Given the description of an element on the screen output the (x, y) to click on. 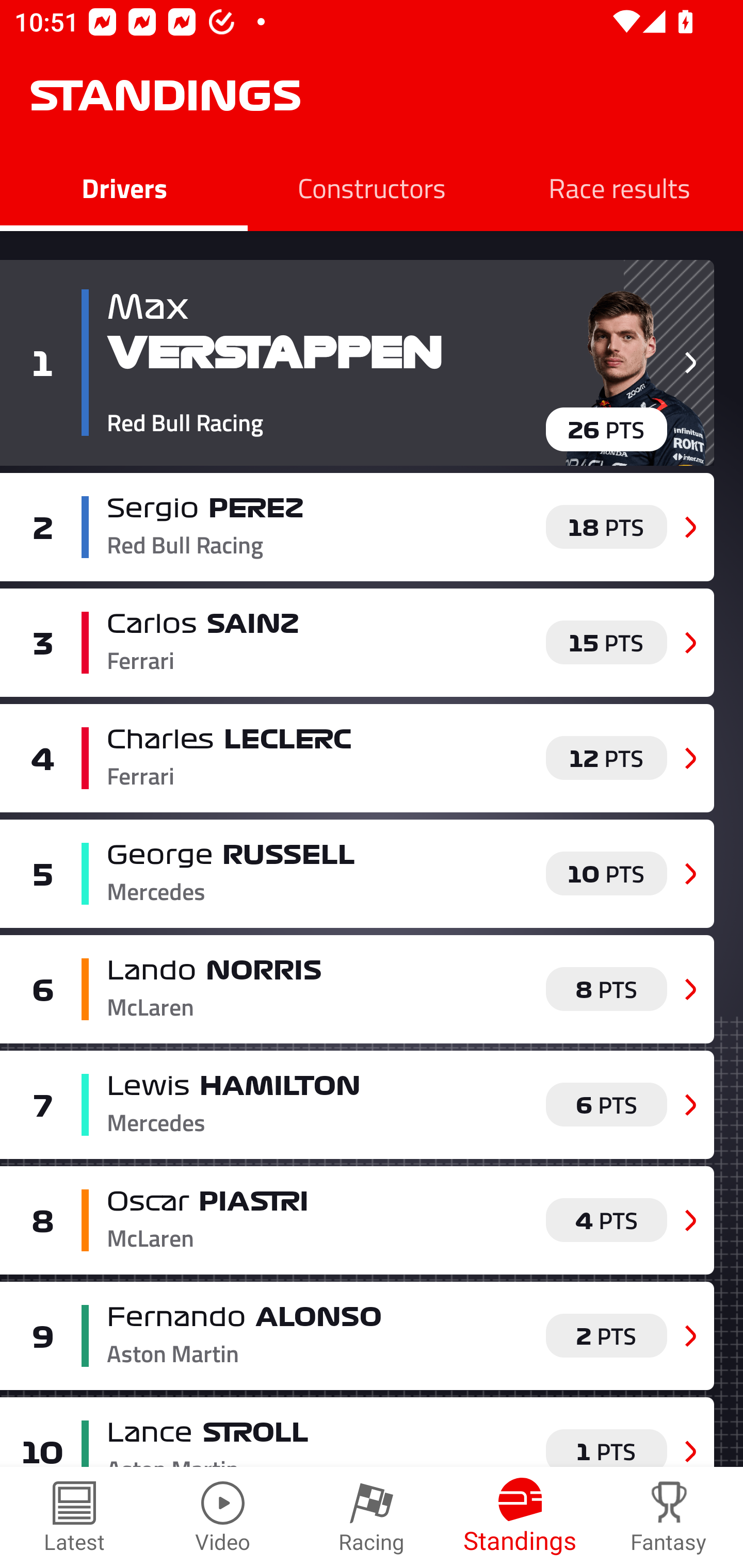
Constructors (371, 187)
Race results (619, 187)
1 Max VERSTAPPEN Red Bull Racing 26 PTS (357, 362)
2 Sergio PEREZ Red Bull Racing 18 PTS (357, 527)
3 Carlos SAINZ Ferrari 15 PTS (357, 642)
4 Charles LECLERC Ferrari 12 PTS (357, 758)
5 George RUSSELL Mercedes 10 PTS (357, 874)
6 Lando NORRIS McLaren 8 PTS (357, 988)
7 Lewis HAMILTON Mercedes 6 PTS (357, 1104)
8 Oscar PIASTRI McLaren 4 PTS (357, 1220)
9 Fernando ALONSO Aston Martin 2 PTS (357, 1335)
10 Lance STROLL Aston Martin 1 PTS (357, 1432)
Latest (74, 1517)
Video (222, 1517)
Racing (371, 1517)
Fantasy (668, 1517)
